Given the description of an element on the screen output the (x, y) to click on. 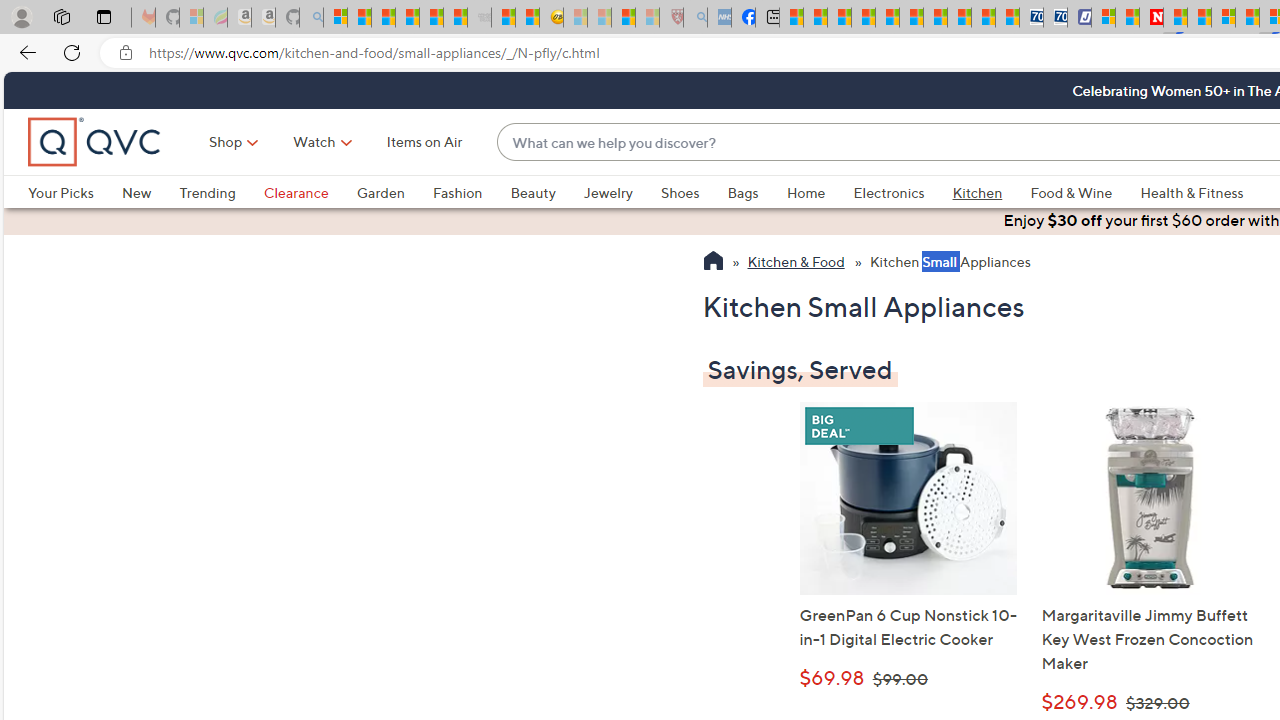
Jewelry (621, 192)
Shop (226, 141)
Beauty (546, 192)
Health & Fitness (1192, 192)
Fashion (457, 192)
Health & Fitness (1197, 192)
Electronics (902, 192)
Trending (207, 192)
Latest Politics News & Archive | Newsweek.com (1151, 17)
